Given the description of an element on the screen output the (x, y) to click on. 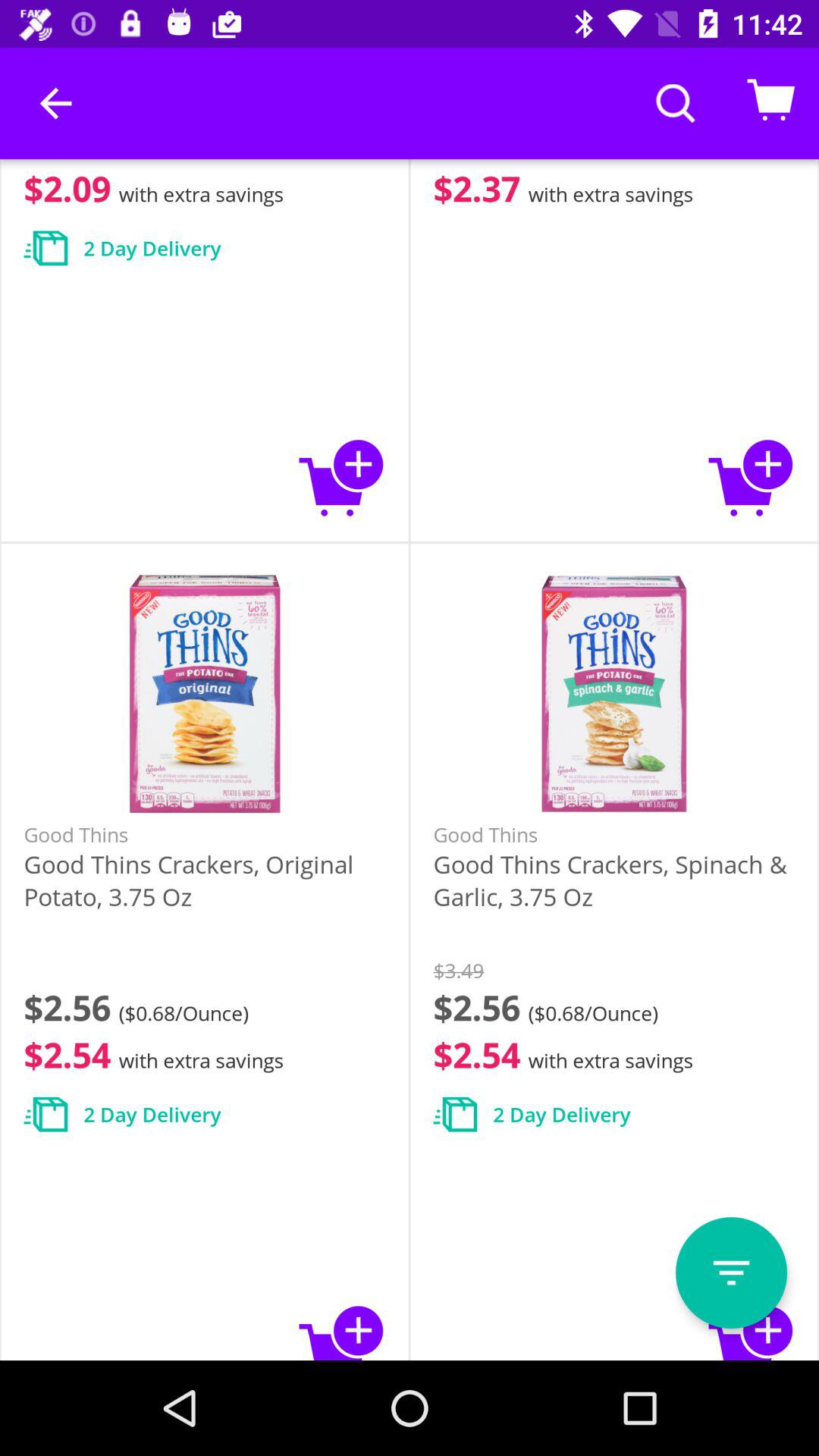
add to basket (751, 1330)
